Given the description of an element on the screen output the (x, y) to click on. 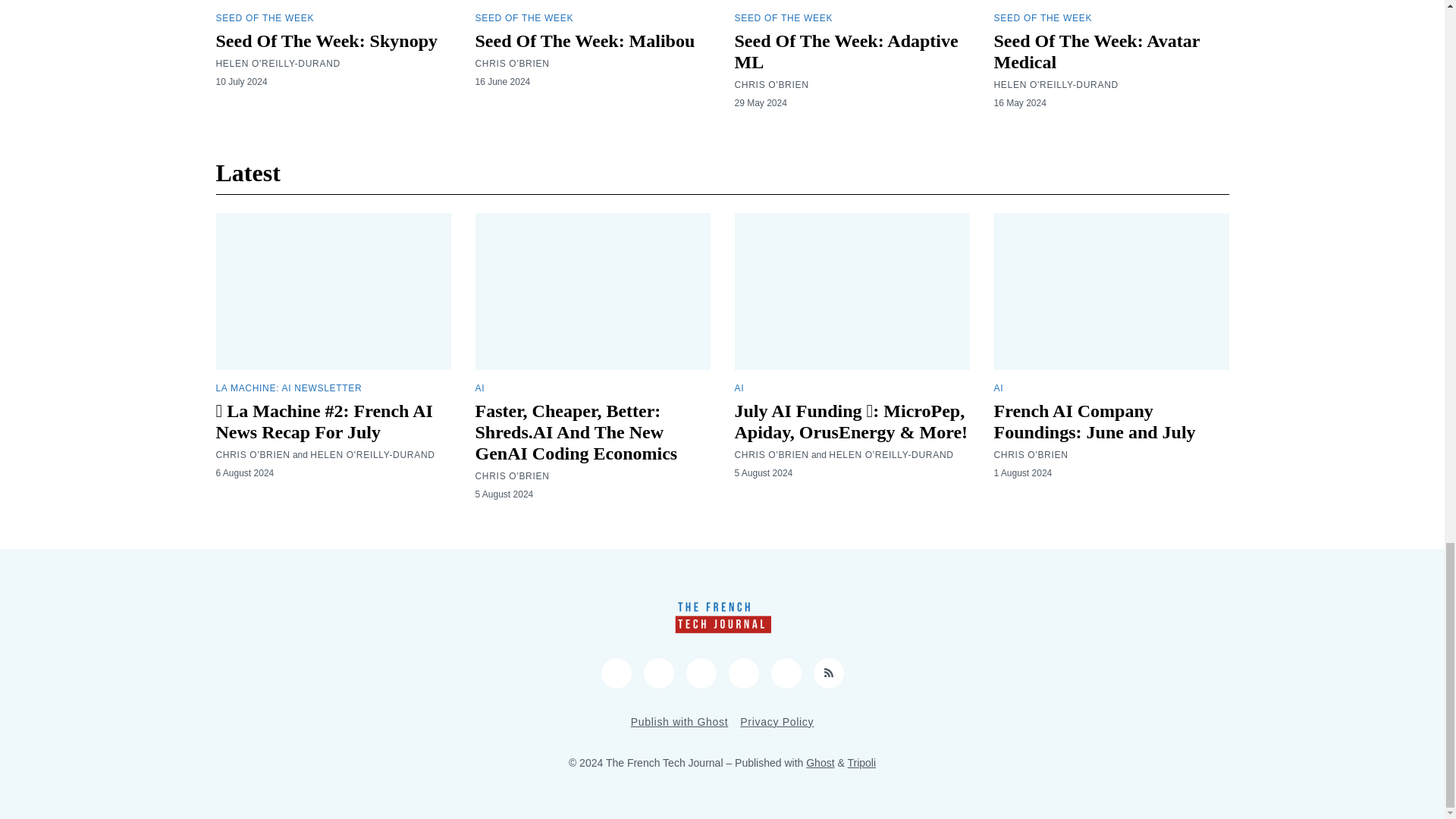
HELEN O'REILLY-DURAND (277, 63)
Seed Of The Week: Skynopy (326, 40)
SEED OF THE WEEK (264, 18)
